Given the description of an element on the screen output the (x, y) to click on. 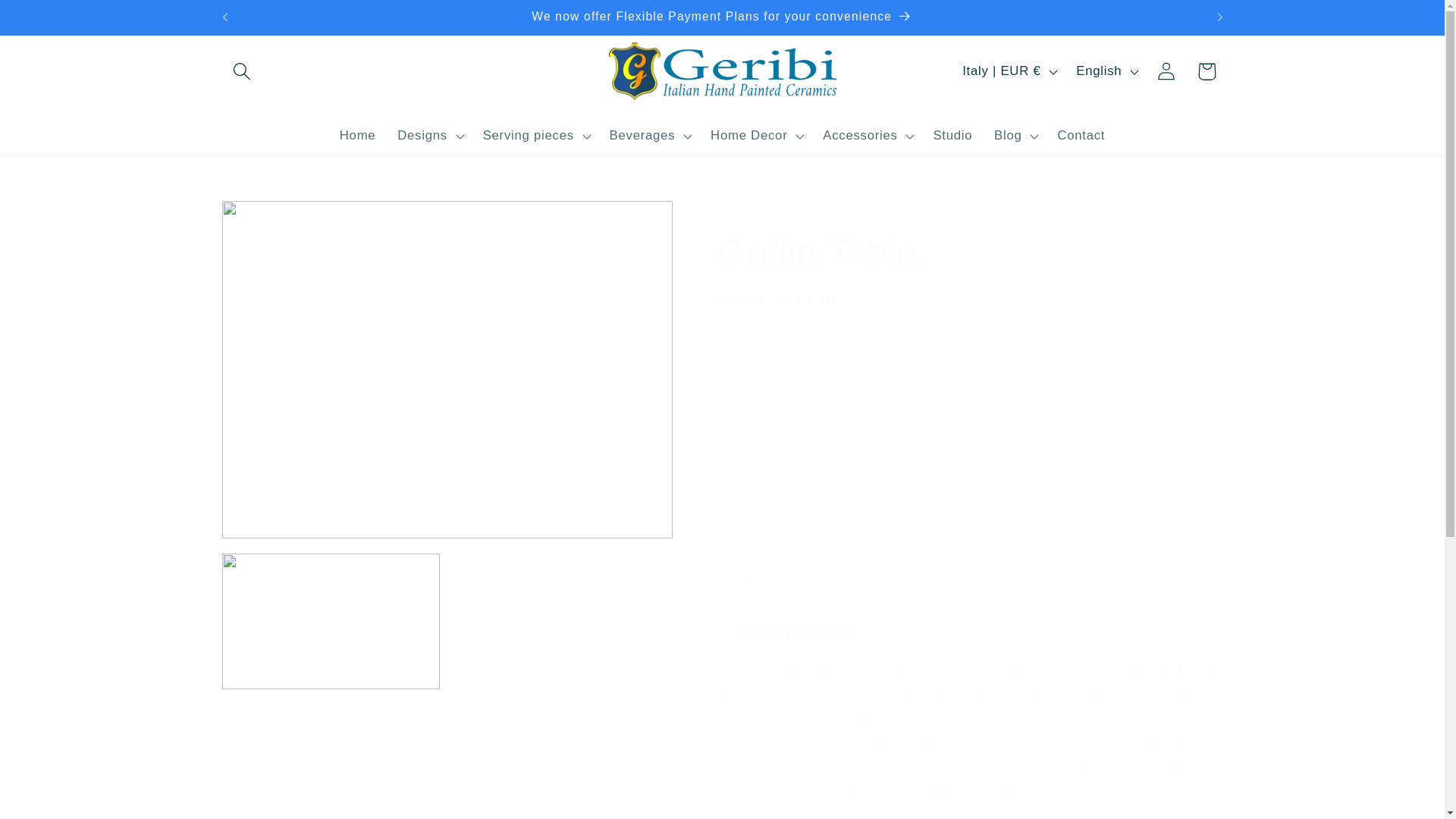
1 (771, 393)
We now offer Flexible Payment Plans for your convenience (721, 17)
Skip to content (56, 21)
Open media 2 in modal (330, 620)
